Given the description of an element on the screen output the (x, y) to click on. 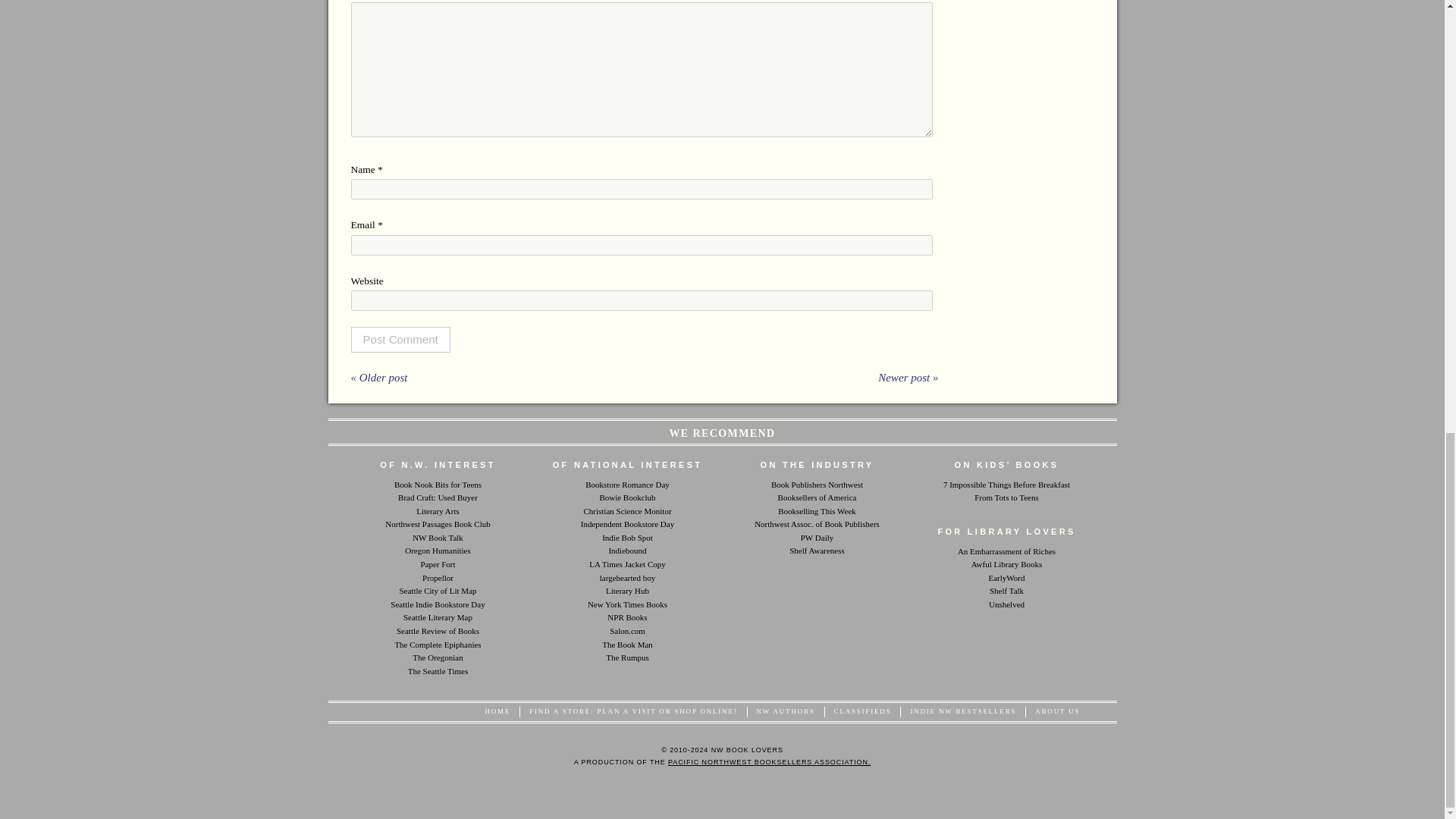
Aria is a teen book blogger from Eugene, OR (437, 483)
The Brian Doyle collection at The American Scholar (437, 644)
Post Comment (399, 339)
Book recs and author interviews from the beautiful Northwest (437, 537)
Go to the association website (769, 761)
Book and Bible Repair (627, 644)
Post Comment (399, 339)
Support and celebrate your local indie! (627, 523)
